Given the description of an element on the screen output the (x, y) to click on. 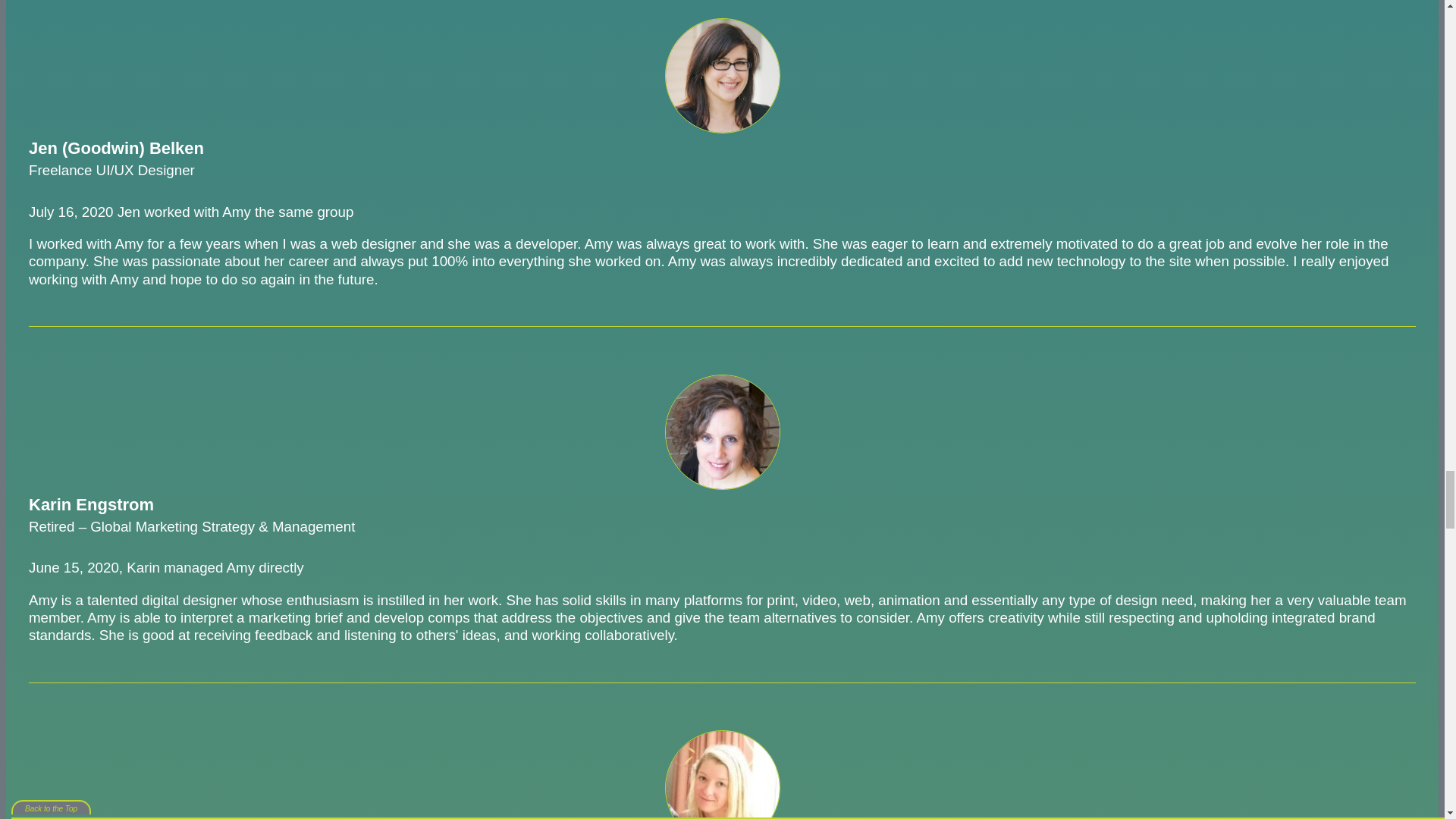
Karin Engstrom (720, 431)
Erin Sanders (720, 774)
